Given the description of an element on the screen output the (x, y) to click on. 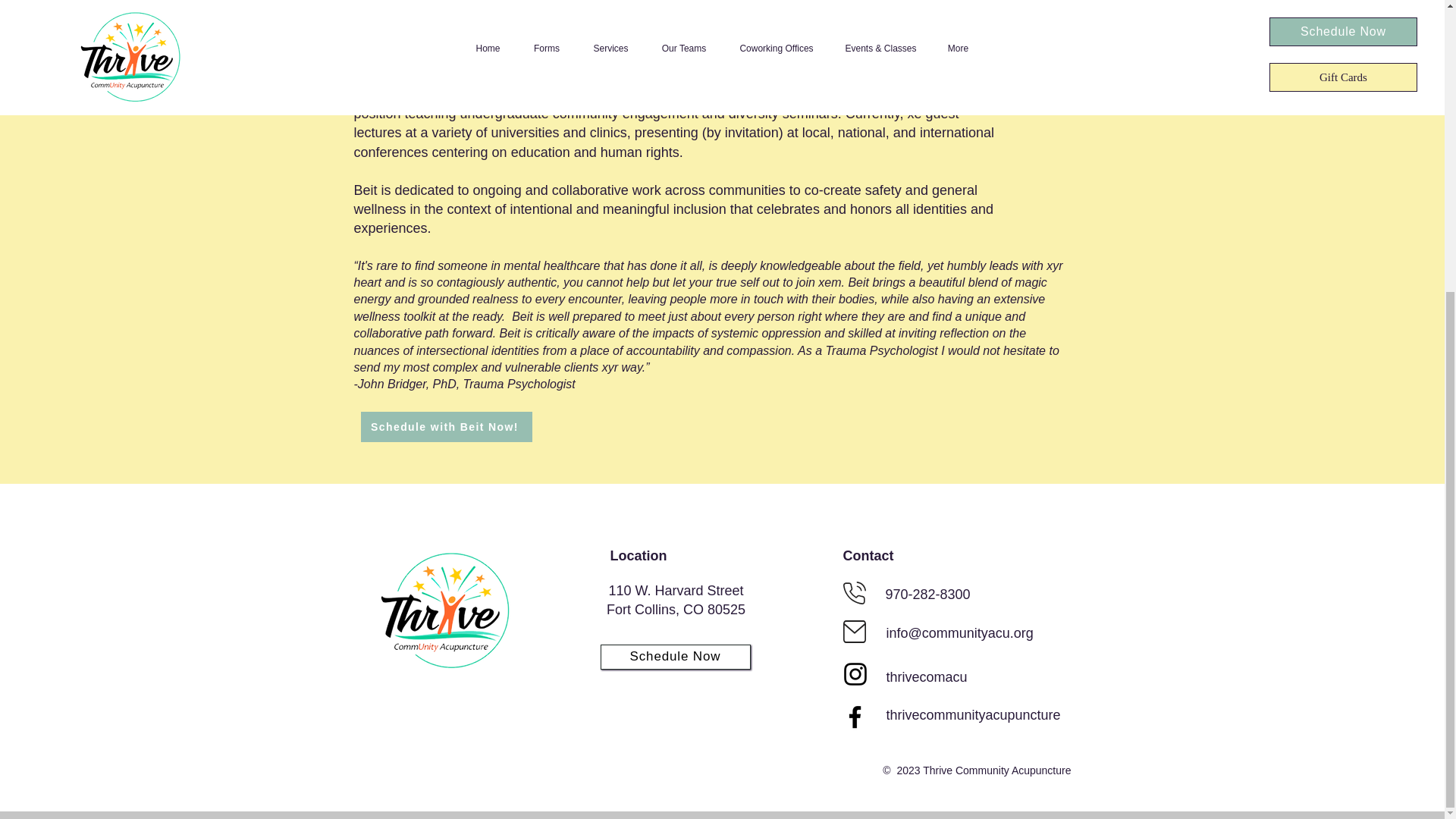
Schedule Now (676, 600)
Schedule with Beit Now! (675, 656)
